Given the description of an element on the screen output the (x, y) to click on. 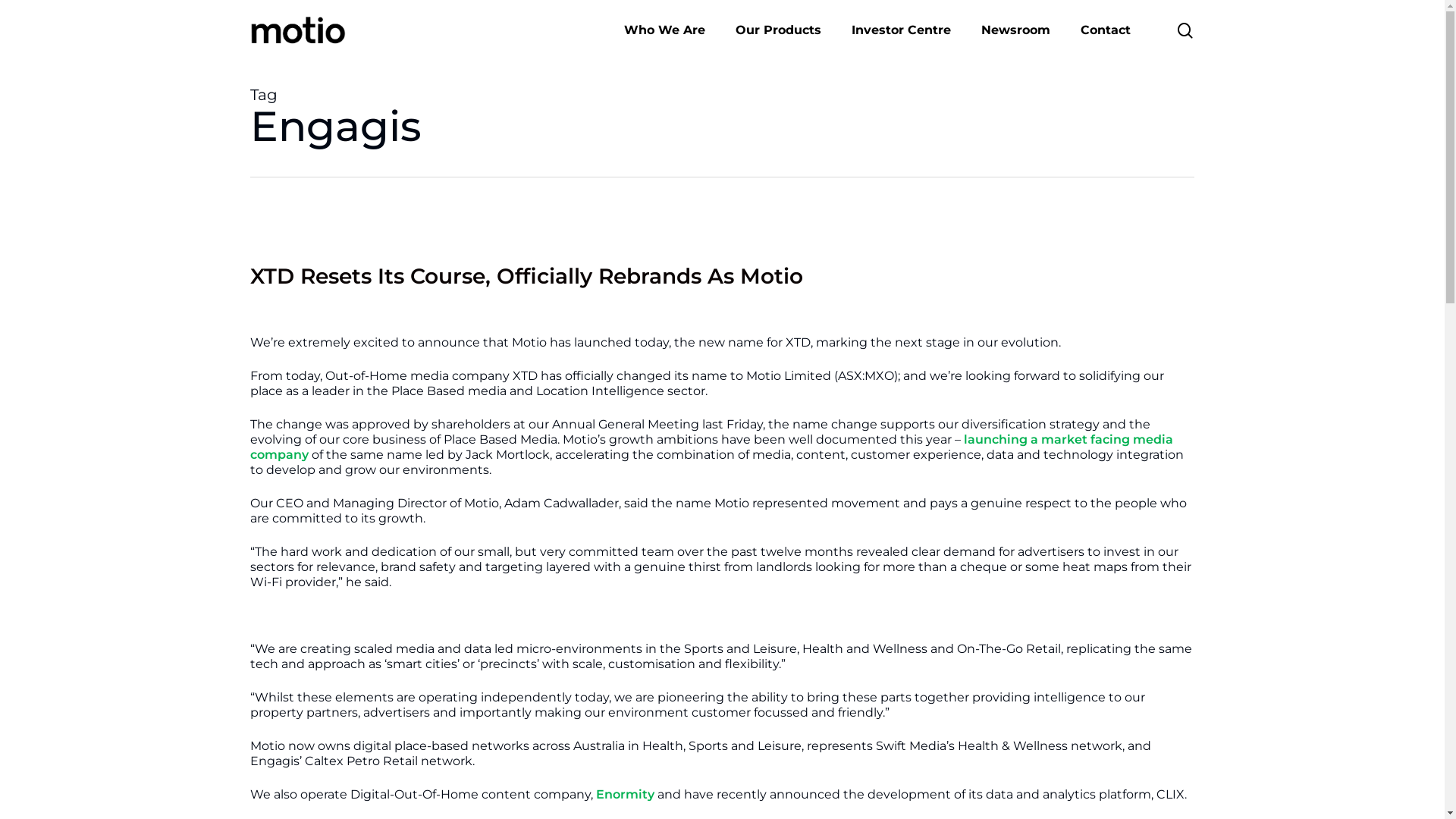
Investor Centre Element type: text (900, 29)
search Element type: text (1185, 30)
Newsroom Element type: text (1015, 29)
XTD Resets Its Course, Officially Rebrands As Motio Element type: text (526, 275)
Who We Are Element type: text (664, 29)
Enormity Element type: text (625, 794)
Contact Element type: text (1105, 29)
launching a market facing media company Element type: text (711, 446)
Our Products Element type: text (778, 29)
